Given the description of an element on the screen output the (x, y) to click on. 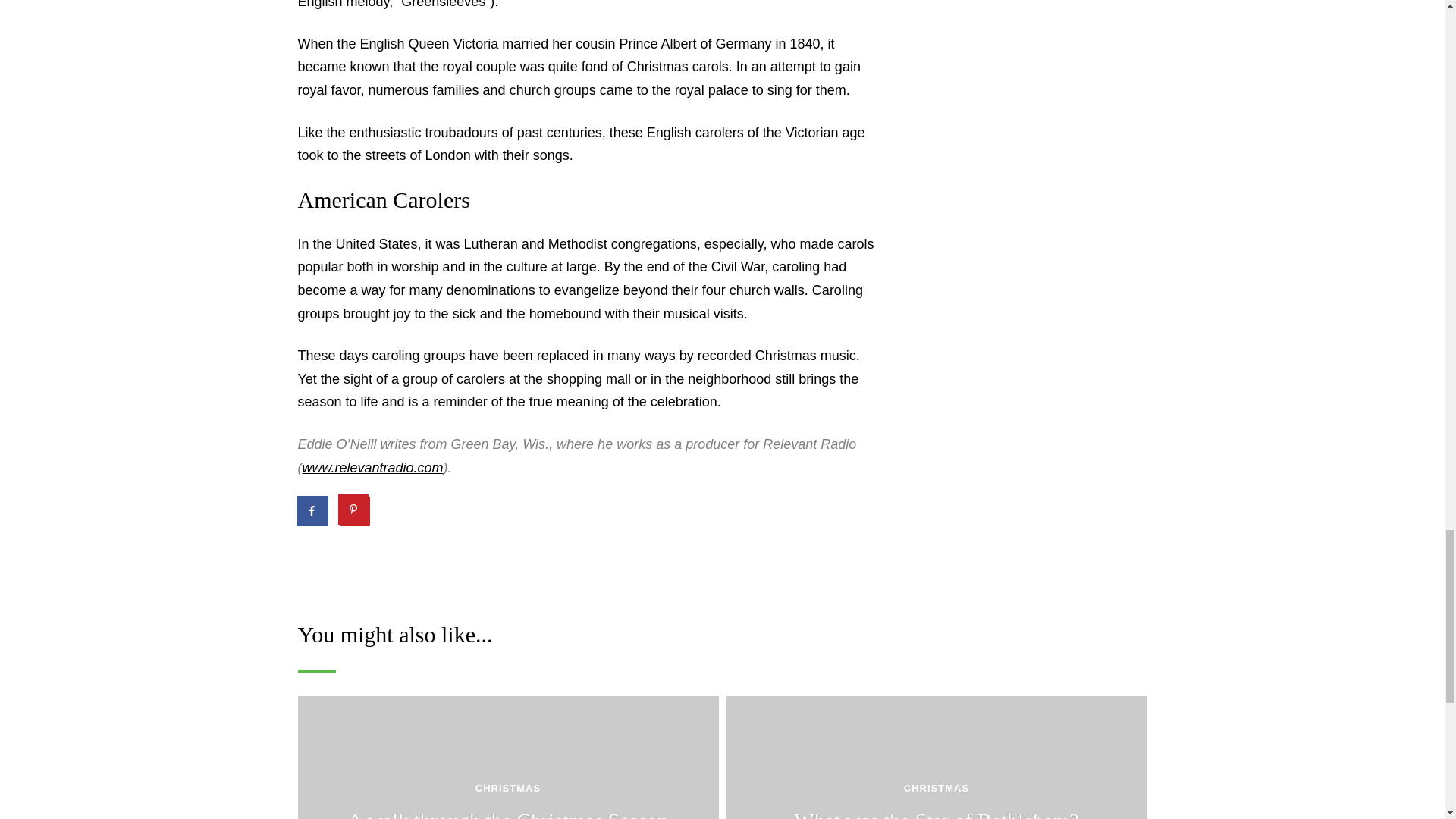
www.relevantradio.com (371, 467)
CHRISTMAS (338, 558)
MUSIC (418, 558)
Share on Facebook (312, 511)
Save to Pinterest (354, 511)
